Given the description of an element on the screen output the (x, y) to click on. 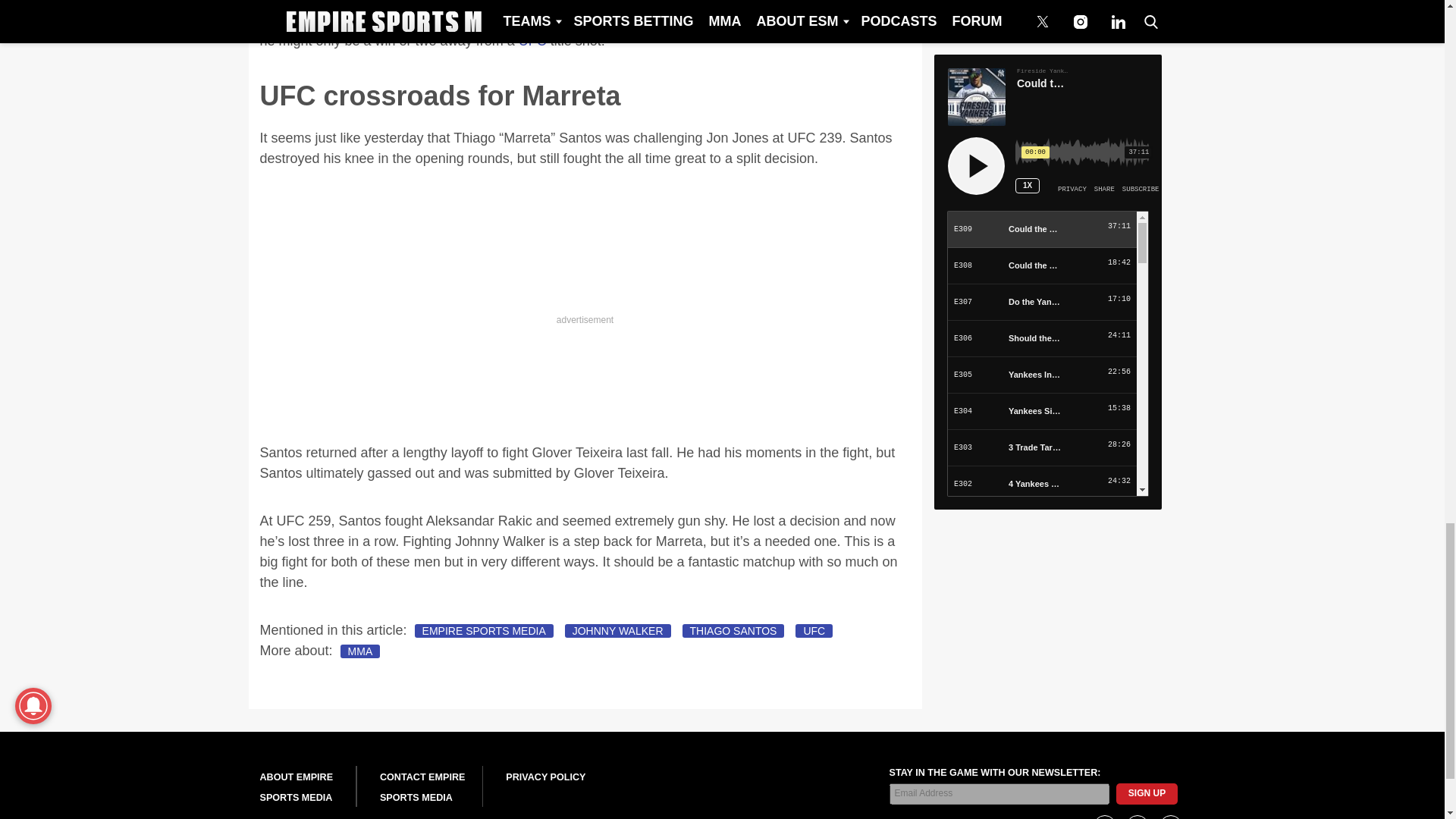
EMPIRE SPORTS MEDIA (483, 631)
UFC (532, 40)
